Given the description of an element on the screen output the (x, y) to click on. 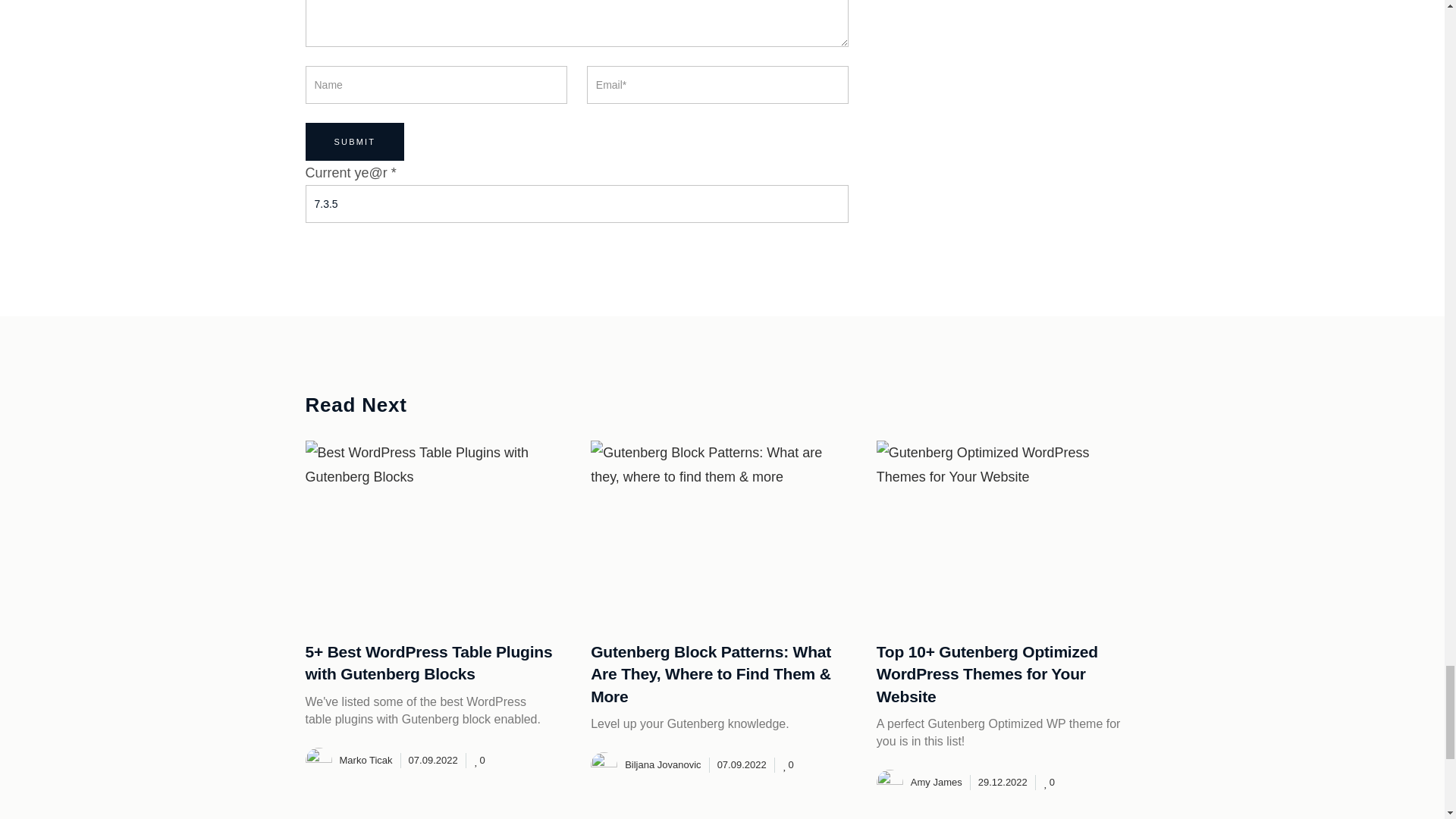
7.3.5 (576, 203)
Submit (354, 141)
